Given the description of an element on the screen output the (x, y) to click on. 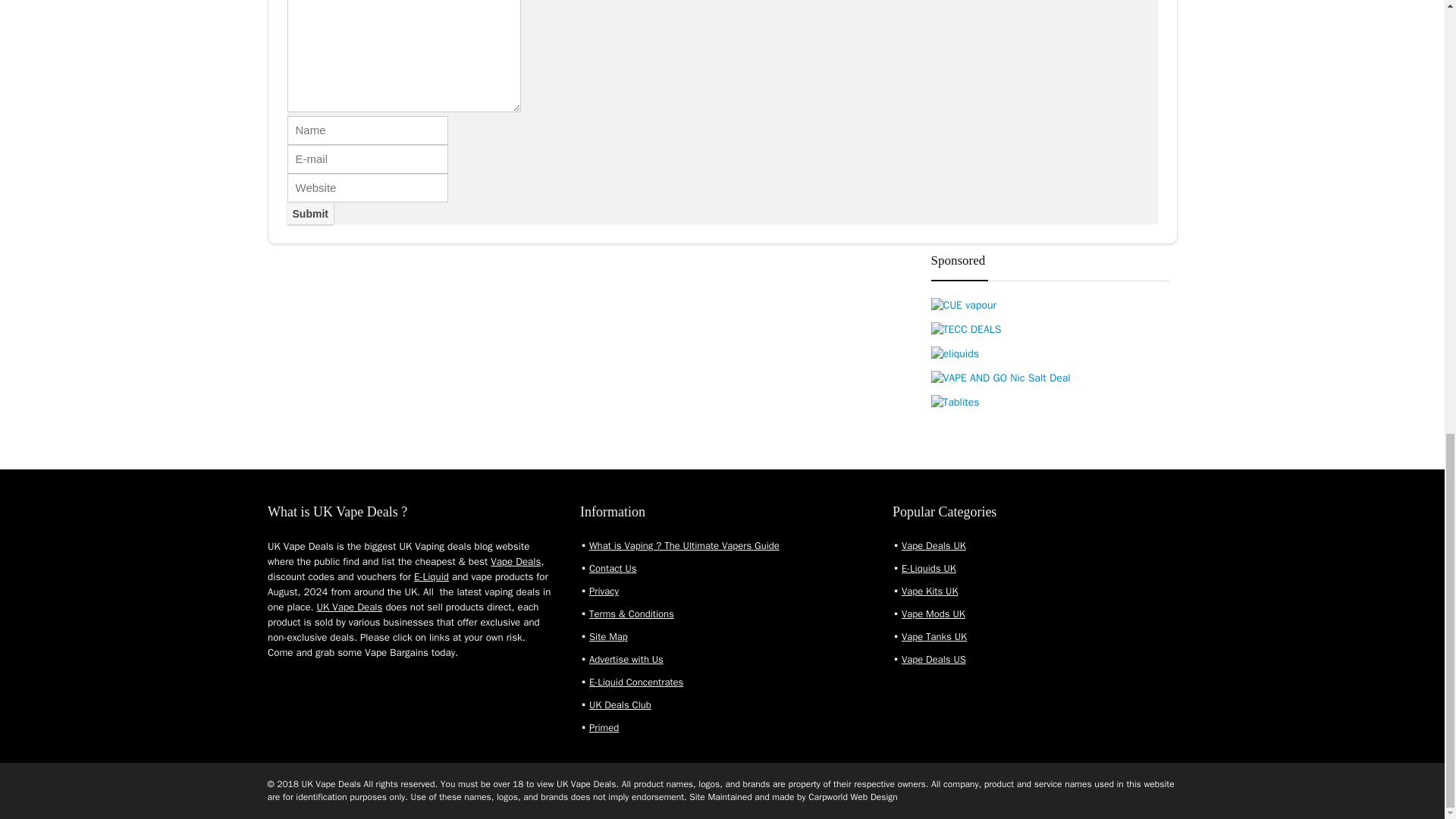
Submit (309, 213)
Submit (309, 213)
